Given the description of an element on the screen output the (x, y) to click on. 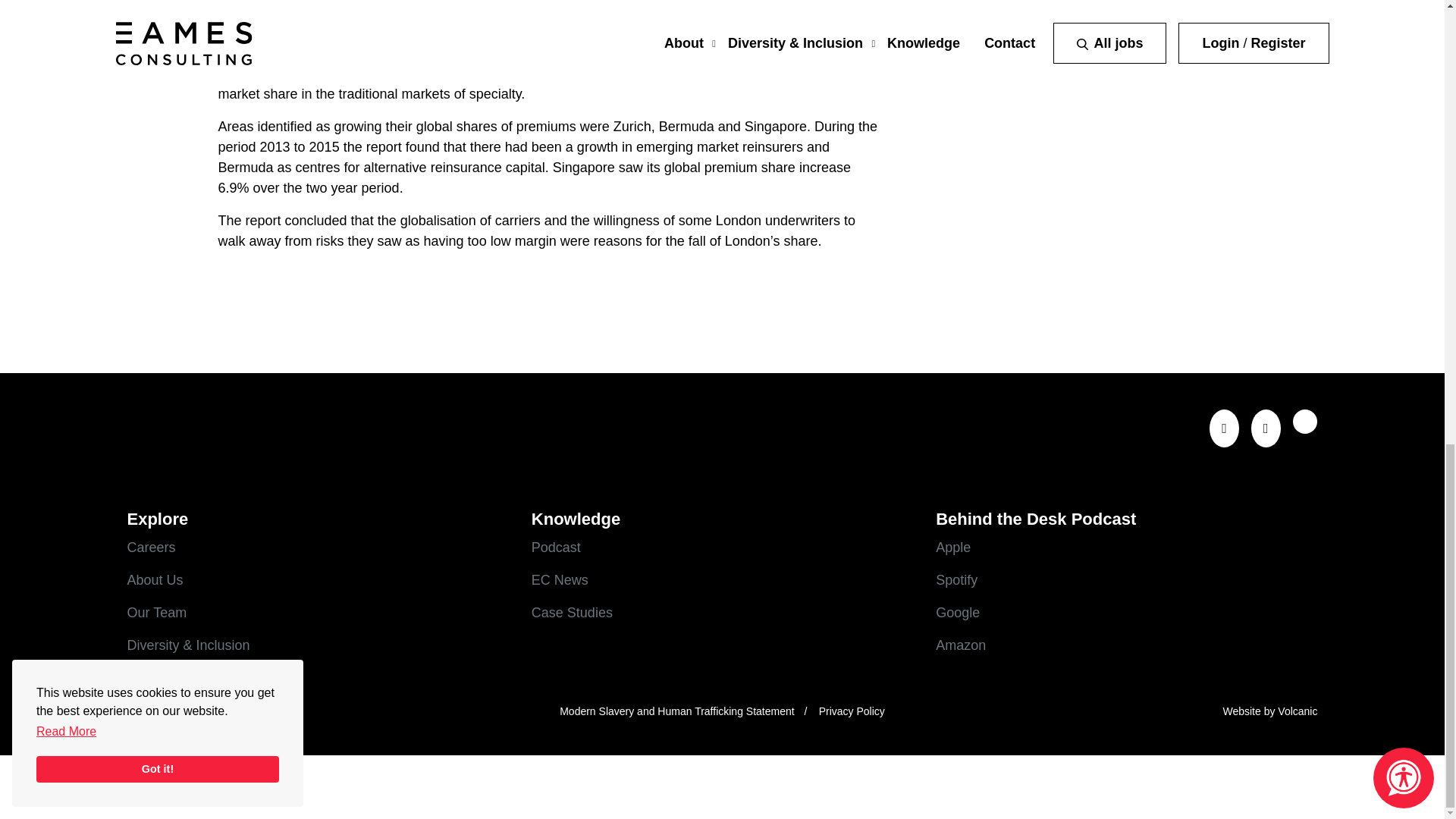
Case Studies (721, 612)
Careers (318, 547)
Our Team (318, 612)
About Us (318, 580)
Podcast (721, 547)
EC News (721, 580)
